Given the description of an element on the screen output the (x, y) to click on. 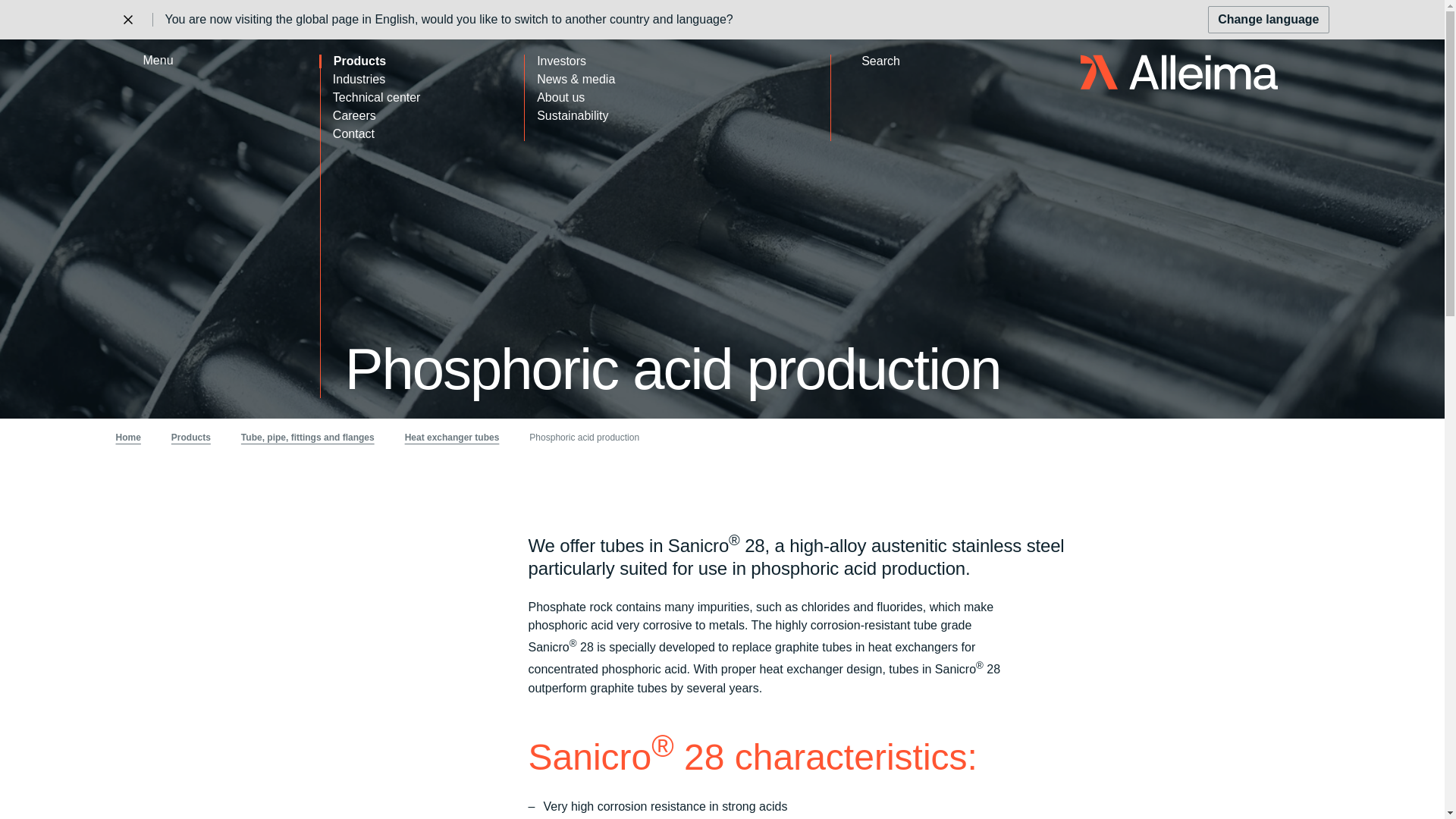
Close language selector (127, 19)
Technical center (422, 97)
Contact (422, 133)
Home (1179, 72)
Products (415, 60)
Change language (1267, 19)
Tube, pipe, fittings and flanges (307, 436)
Home (127, 436)
Products (191, 436)
Careers (422, 115)
